Given the description of an element on the screen output the (x, y) to click on. 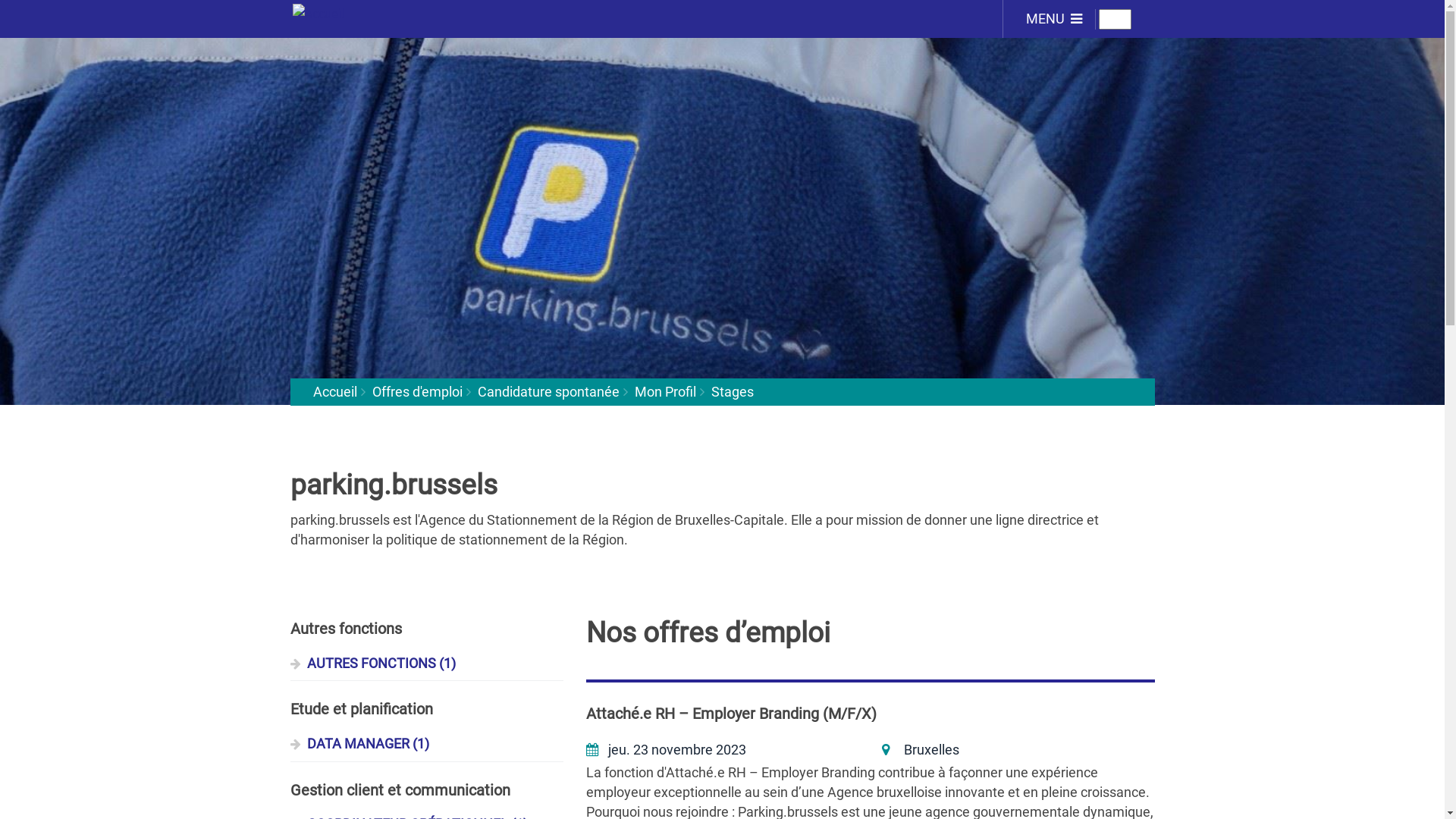
Offres d'emploi Element type: text (416, 391)
Werken bij parking.brussels_jobs Element type: hover (722, 202)
Accueil Element type: hover (379, 12)
Accueil Element type: text (334, 391)
DATA MANAGER (1) Element type: text (425, 744)
MENU Element type: text (1044, 18)
Gestion client et communication Element type: text (425, 790)
Etude et planification Element type: text (425, 709)
Mon Profil Element type: text (664, 391)
AUTRES FONCTIONS (1) Element type: text (425, 663)
Stages Element type: text (732, 391)
Autres fonctions Element type: text (425, 628)
